Given the description of an element on the screen output the (x, y) to click on. 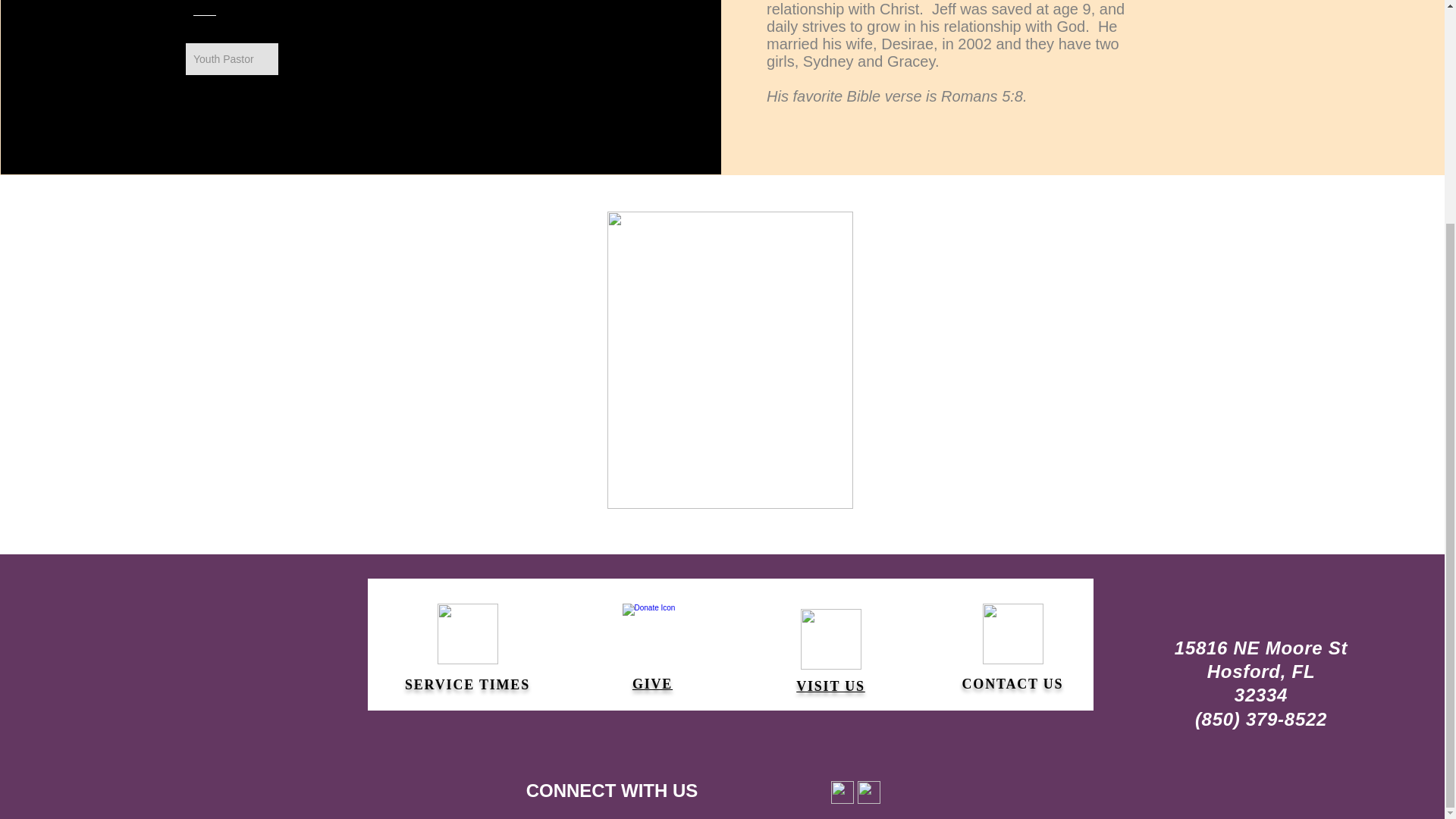
CONTACT US (1013, 683)
VISIT US (830, 685)
GIVE (651, 683)
church.jpg (730, 359)
Youth Pastor (232, 59)
SERVICE TIMES (466, 684)
